Given the description of an element on the screen output the (x, y) to click on. 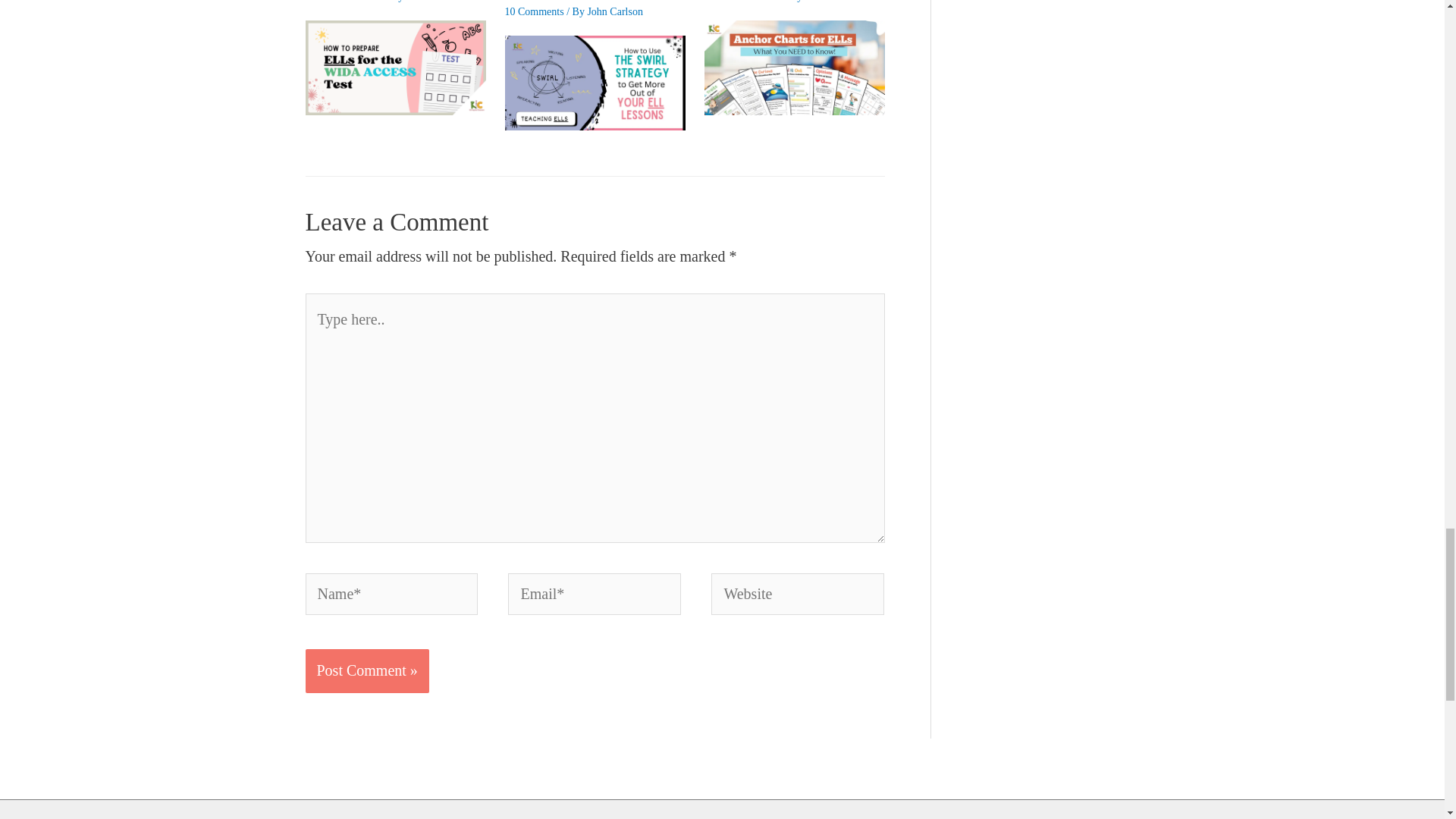
View all posts by John Carlson (434, 1)
View all posts by John Carlson (614, 11)
View all posts by John Carlson (833, 1)
